Given the description of an element on the screen output the (x, y) to click on. 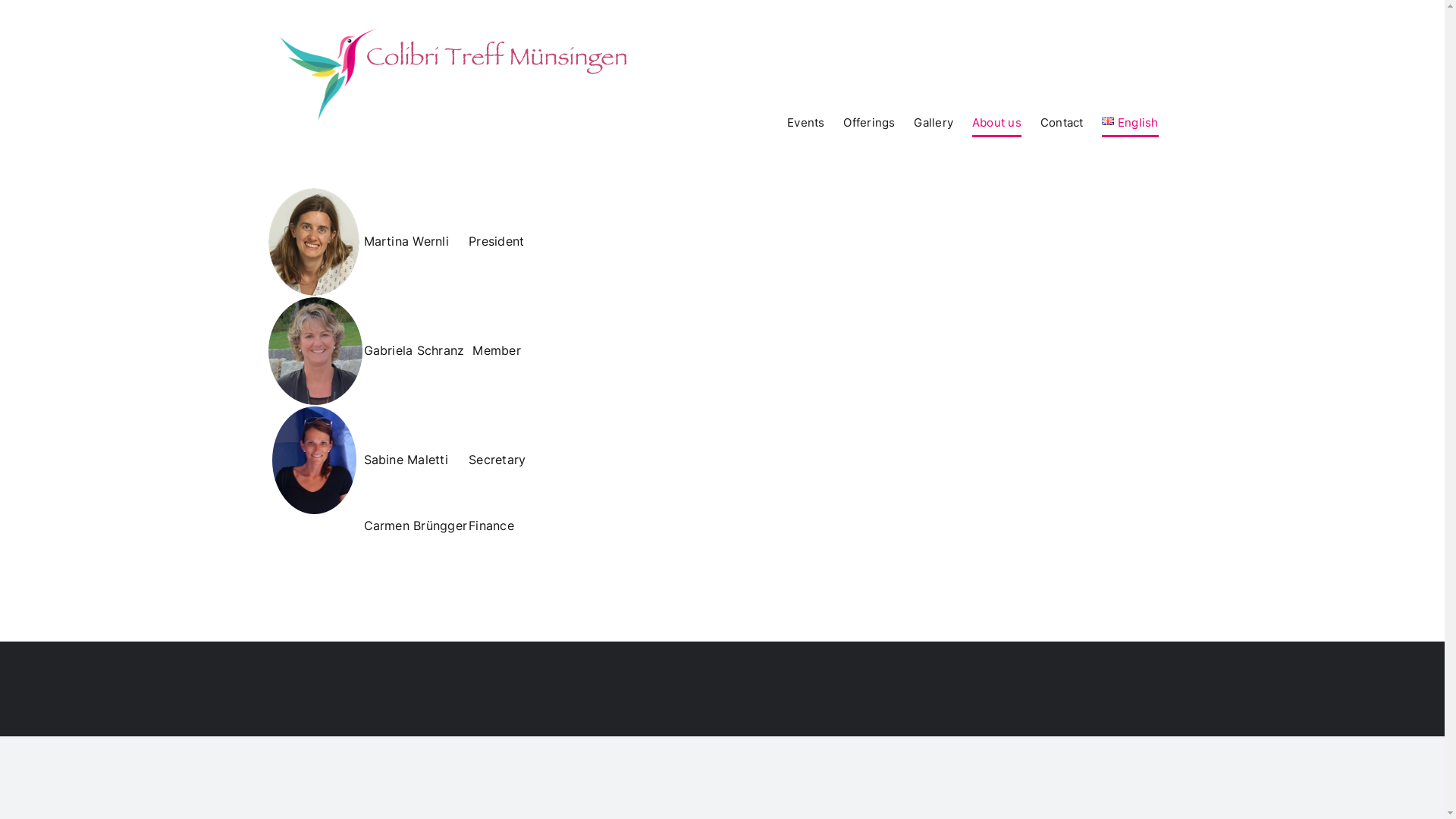
Contact Element type: text (1061, 122)
Events Element type: text (805, 122)
About us Element type: text (996, 122)
Gallery Element type: text (933, 122)
Offerings Element type: text (868, 122)
English Element type: text (1129, 122)
